Given the description of an element on the screen output the (x, y) to click on. 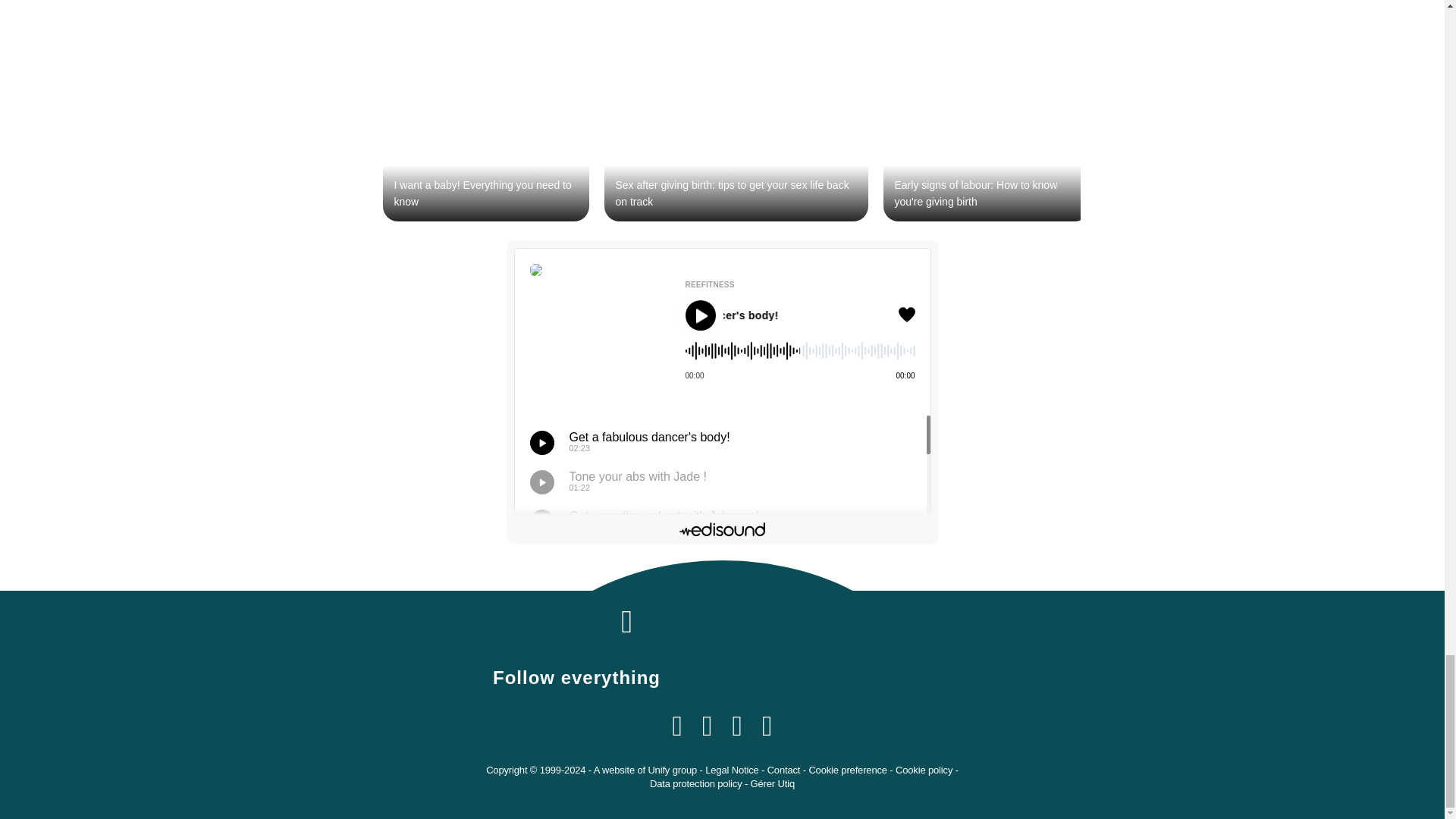
50 (800, 355)
Get a fabulous dancer's body! (771, 315)
Get a fabulous dancer's body! (809, 315)
